Given the description of an element on the screen output the (x, y) to click on. 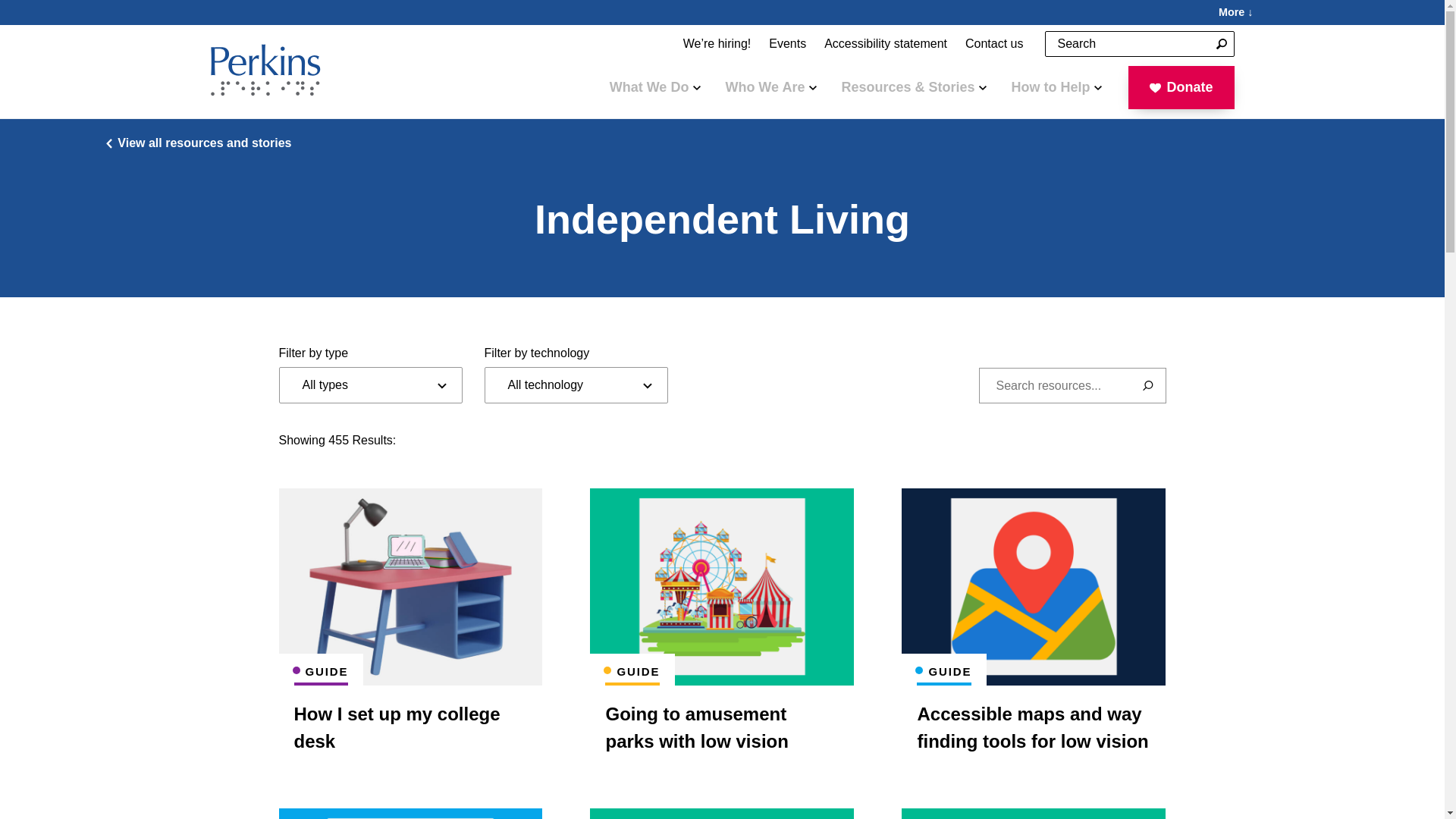
Events (787, 43)
Accessibility statement (885, 43)
Search (1220, 43)
Search (1220, 43)
Contact us (994, 43)
What We Do (654, 86)
Search (1220, 43)
